Given the description of an element on the screen output the (x, y) to click on. 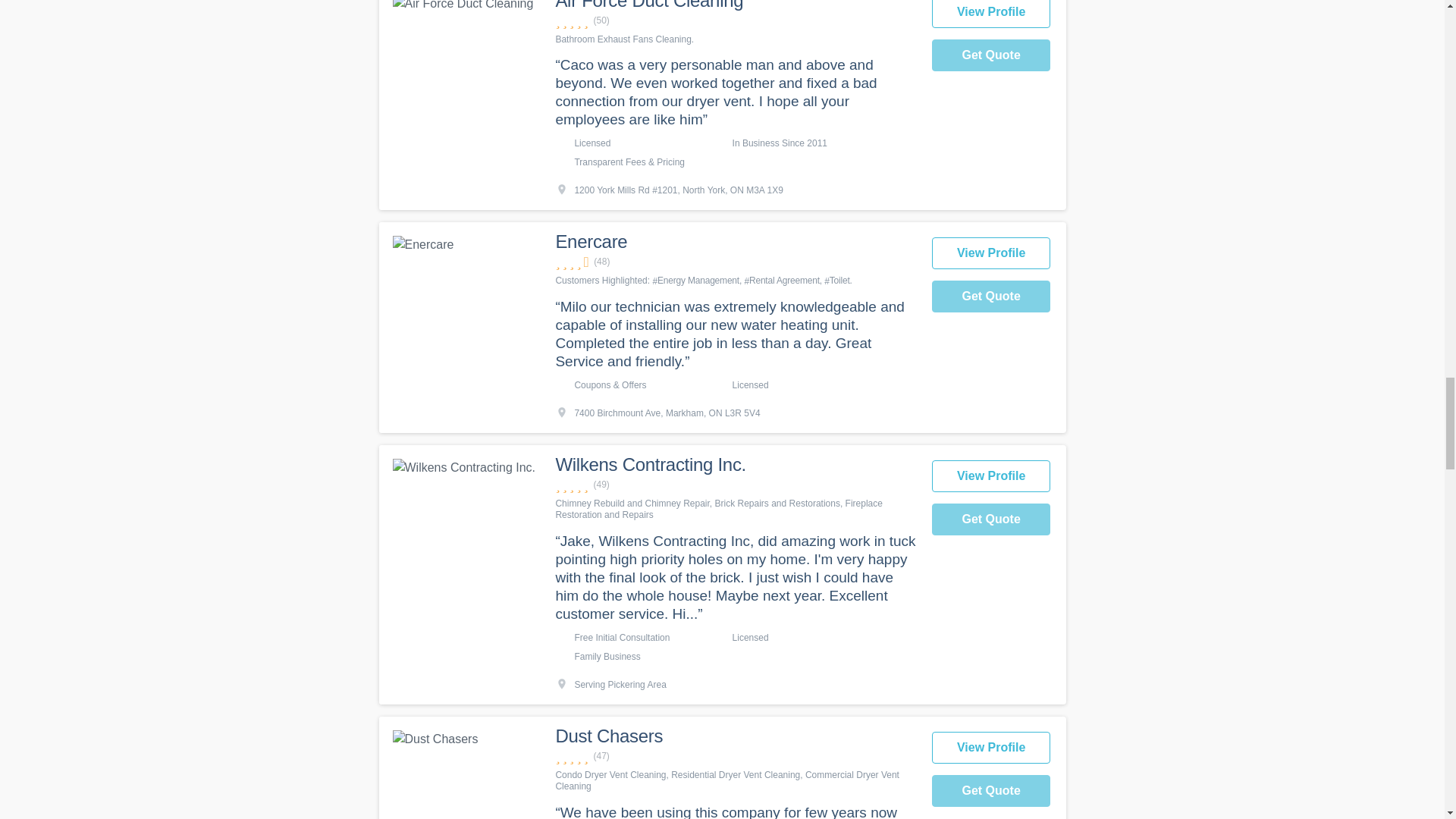
4.7 (734, 756)
5.0 (734, 20)
4.8 (734, 484)
4.5 (734, 261)
